Given the description of an element on the screen output the (x, y) to click on. 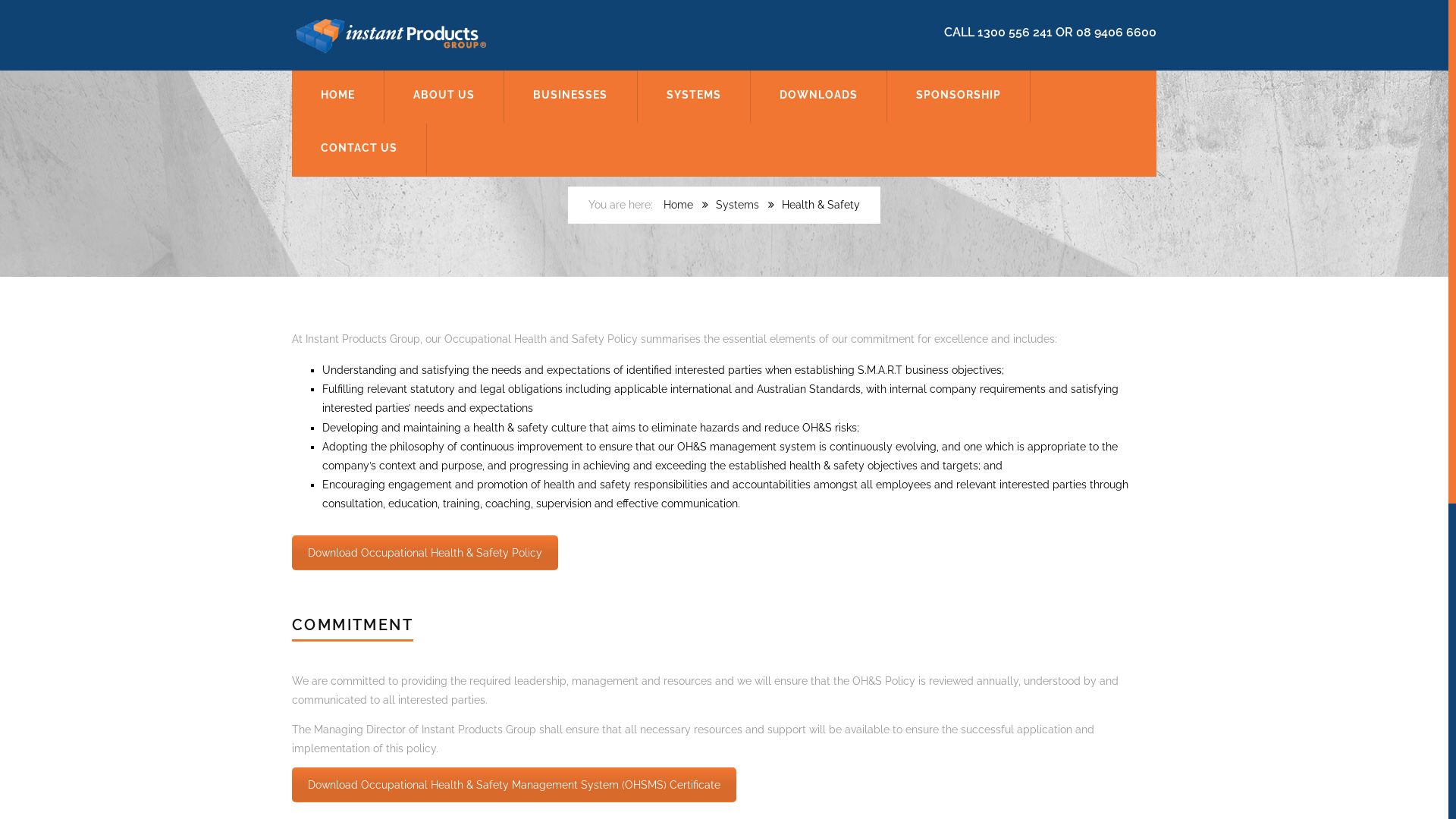
DOWNLOADS Element type: text (818, 95)
Home Element type: text (678, 204)
Systems Element type: text (737, 204)
CONTACT US Element type: text (358, 149)
ABOUT US Element type: text (444, 95)
Download Occupational Health & Safety Policy Element type: text (424, 552)
1300 556 241 Element type: text (1014, 32)
SPONSORSHIP Element type: text (958, 95)
BUSINESSES Element type: text (570, 95)
HOME Element type: text (337, 95)
SYSTEMS Element type: text (693, 95)
08 9406 6600 Element type: text (1116, 32)
